Given the description of an element on the screen output the (x, y) to click on. 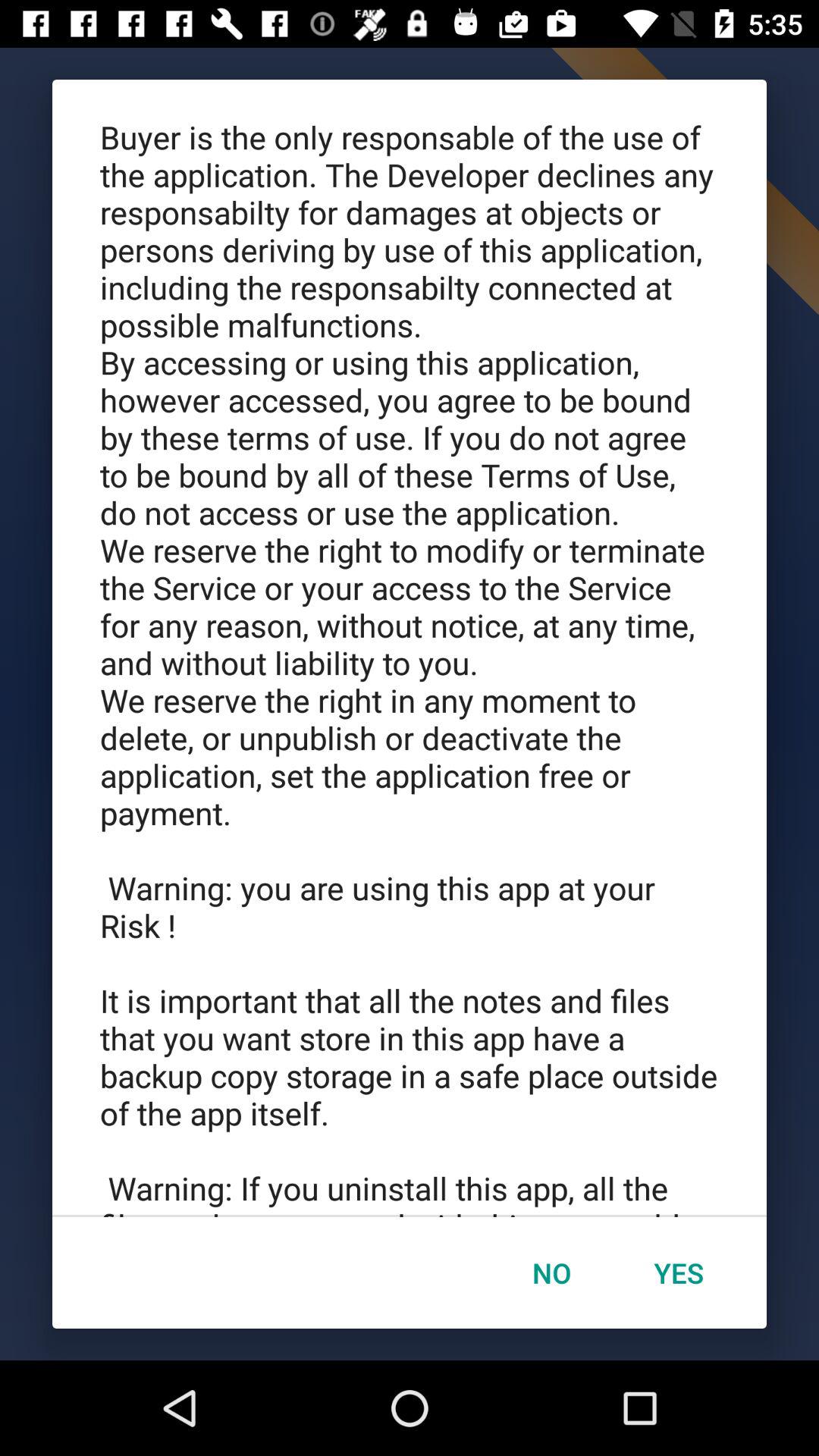
turn on no icon (551, 1272)
